Given the description of an element on the screen output the (x, y) to click on. 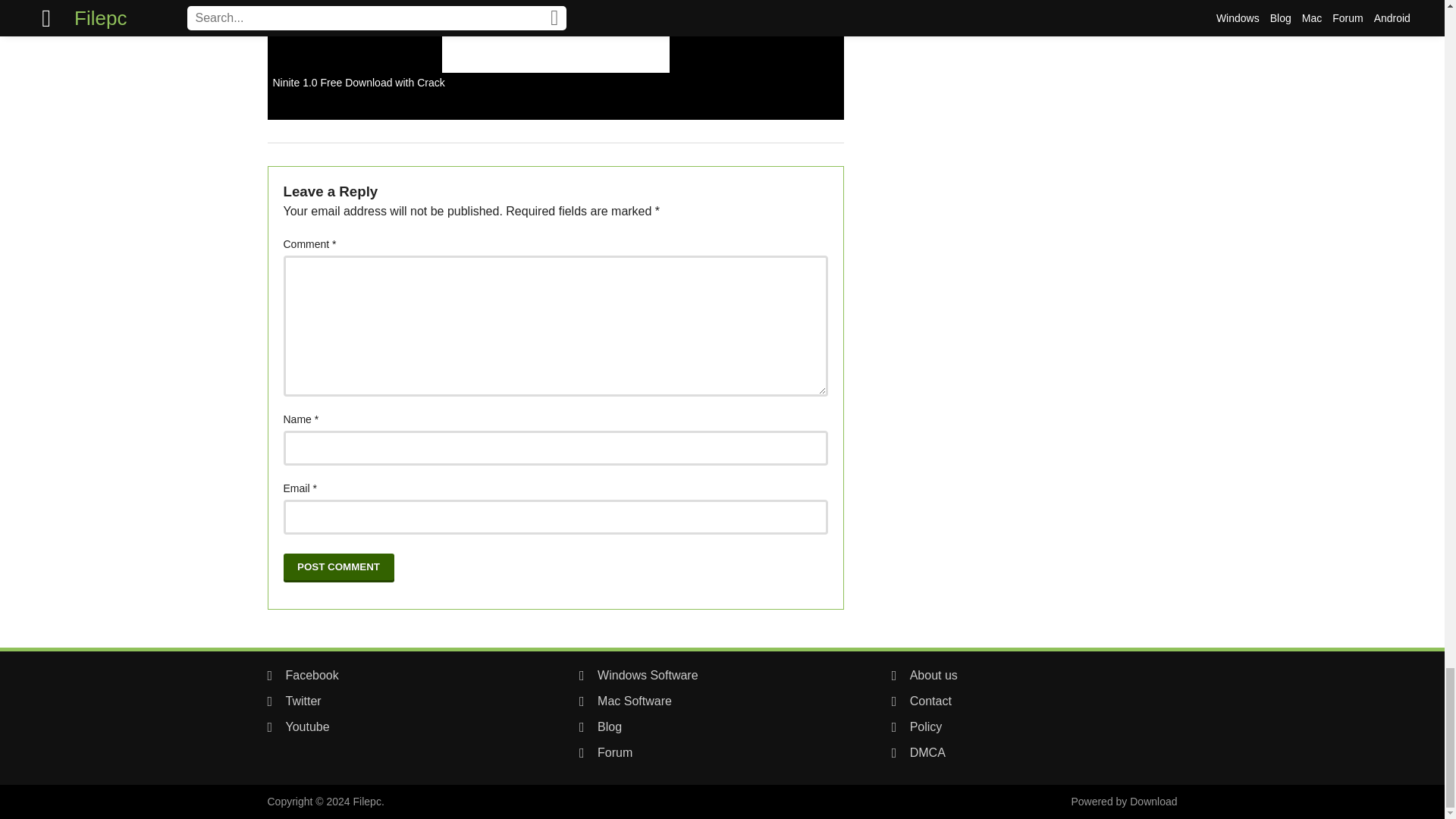
Post Comment (338, 567)
